Given the description of an element on the screen output the (x, y) to click on. 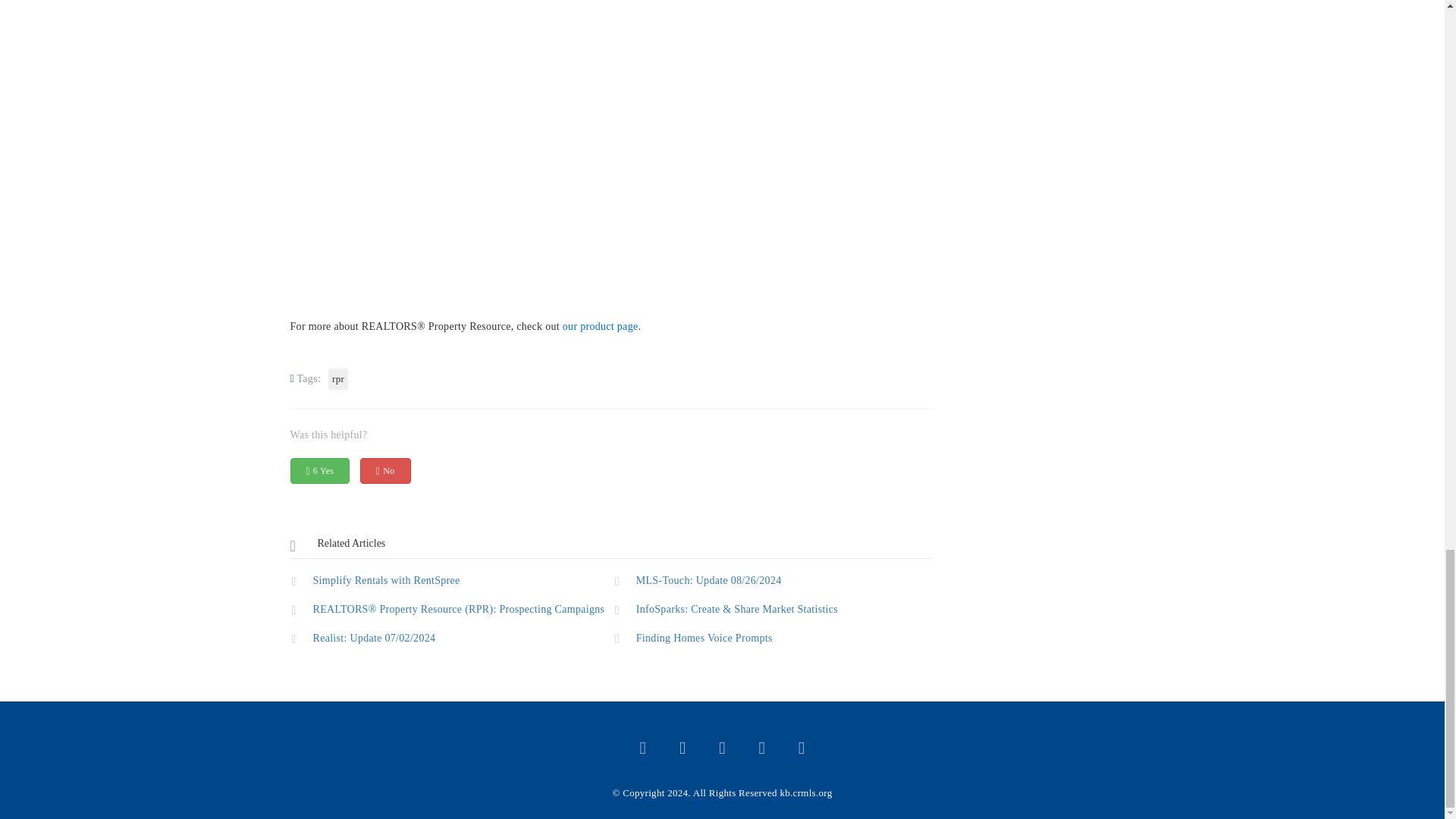
Facebook (682, 749)
No (384, 469)
Finding Homes Voice Prompts (772, 637)
Linkedin (802, 749)
YouTube (722, 749)
6 Yes (319, 469)
Twitter (643, 749)
Simplify Rentals with RentSpree (448, 579)
rpr (338, 379)
our product page (600, 326)
